Given the description of an element on the screen output the (x, y) to click on. 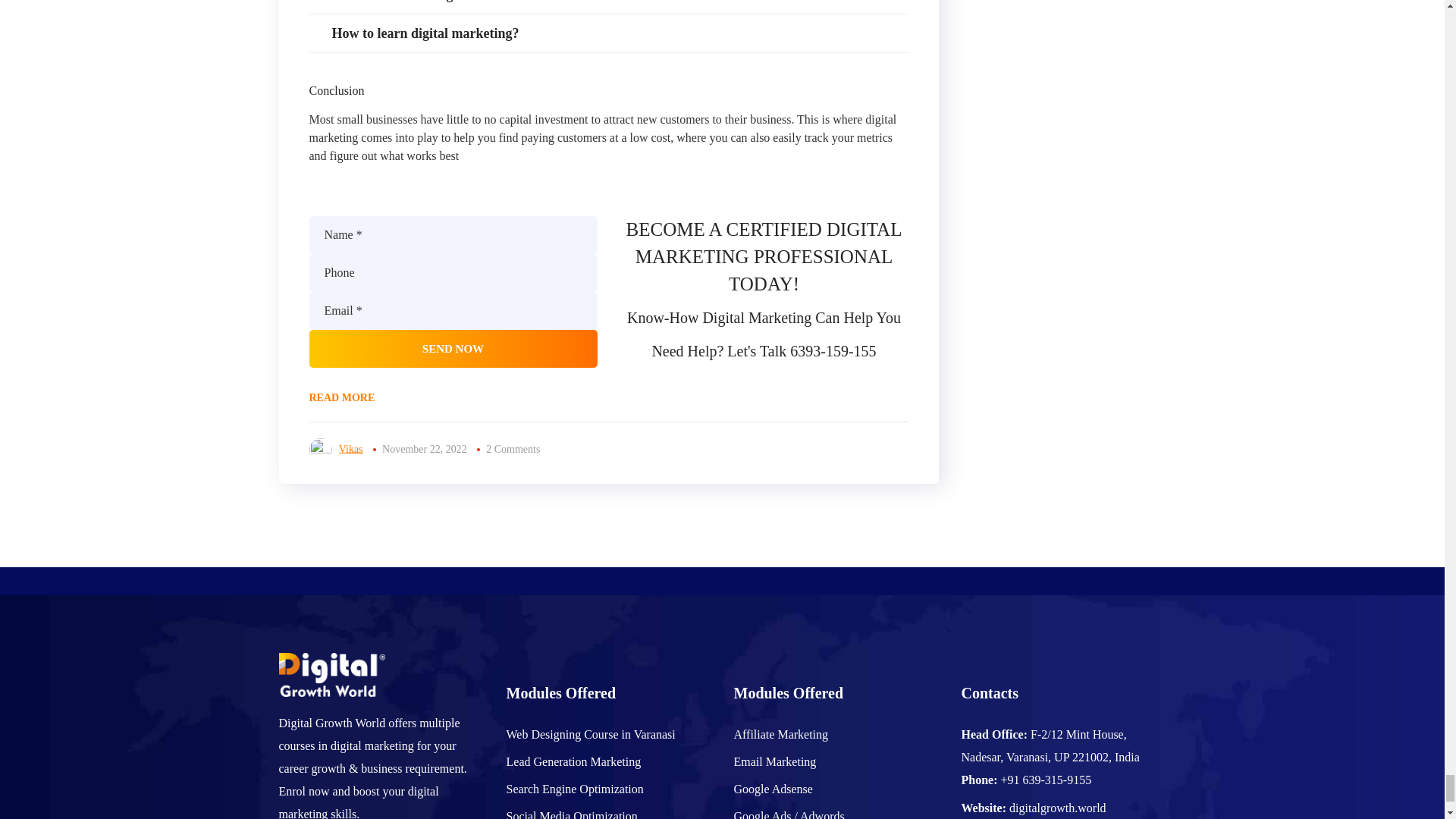
SEND NOW (452, 348)
